Given the description of an element on the screen output the (x, y) to click on. 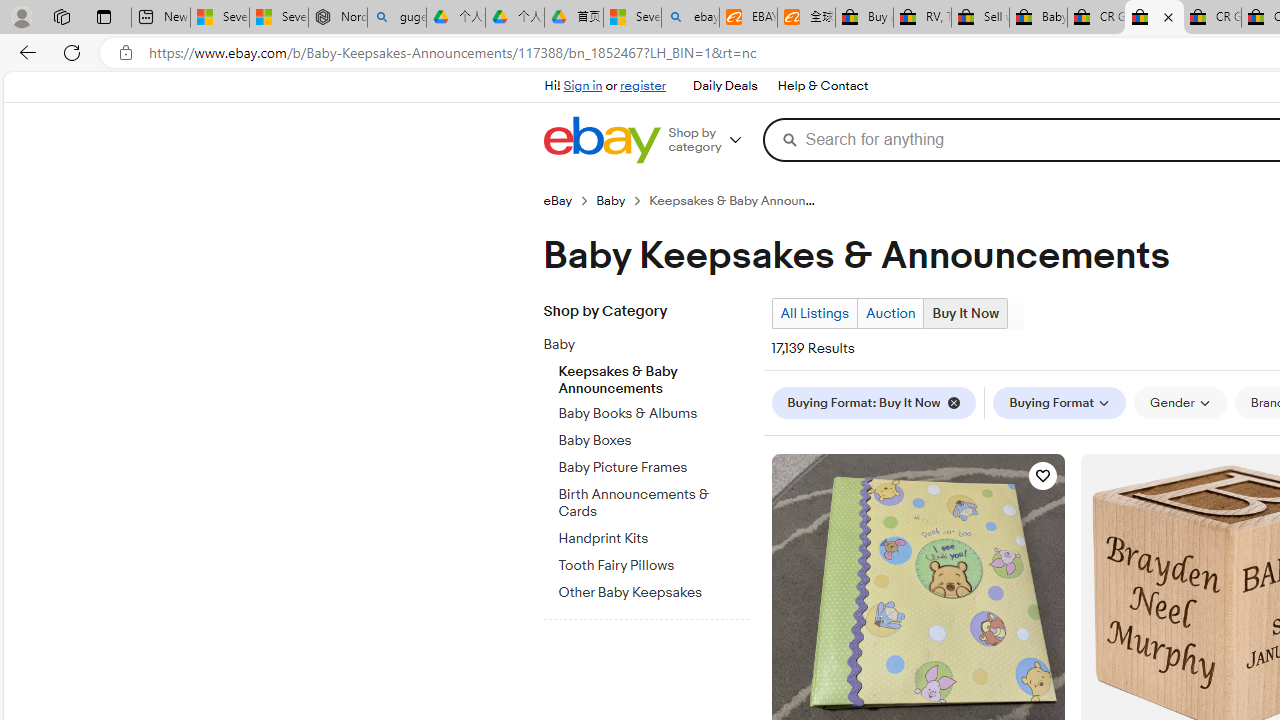
eBay Home (601, 139)
Daily Deals (724, 86)
Tooth Fairy Pillows (653, 562)
Daily Deals (724, 85)
Help & Contact (822, 86)
register (642, 85)
Help & Contact (821, 85)
Buying Format (1059, 403)
